Given the description of an element on the screen output the (x, y) to click on. 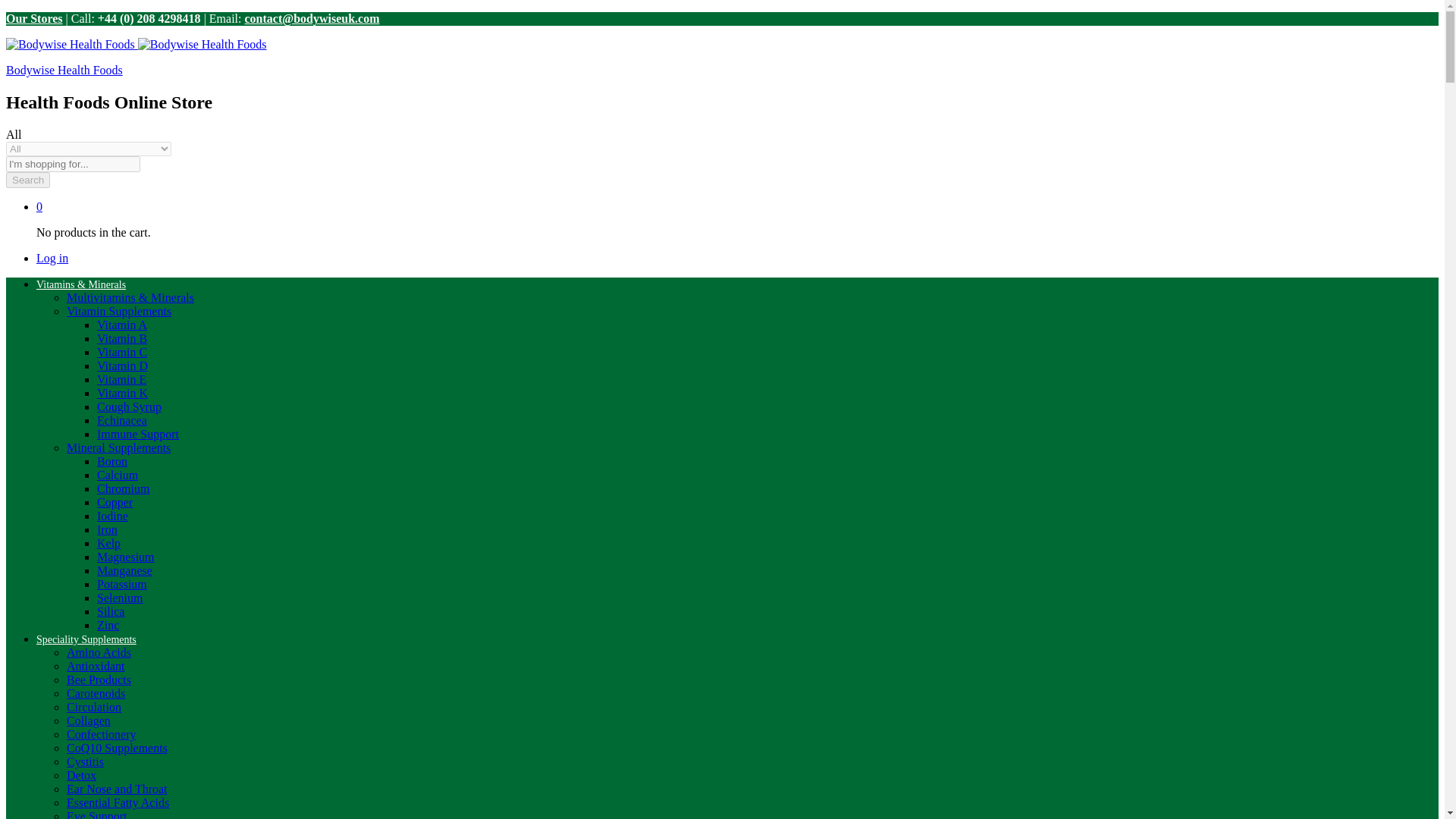
Facebook (1307, 18)
1 (721, 518)
SPECIALITY SUPPLEMENTS (345, 137)
Our Stores (124, 22)
Twitter (1326, 18)
Qty (721, 518)
Add to wishlist (1106, 513)
Log in (1316, 74)
Compare (1147, 513)
Instagram (1345, 18)
